Given the description of an element on the screen output the (x, y) to click on. 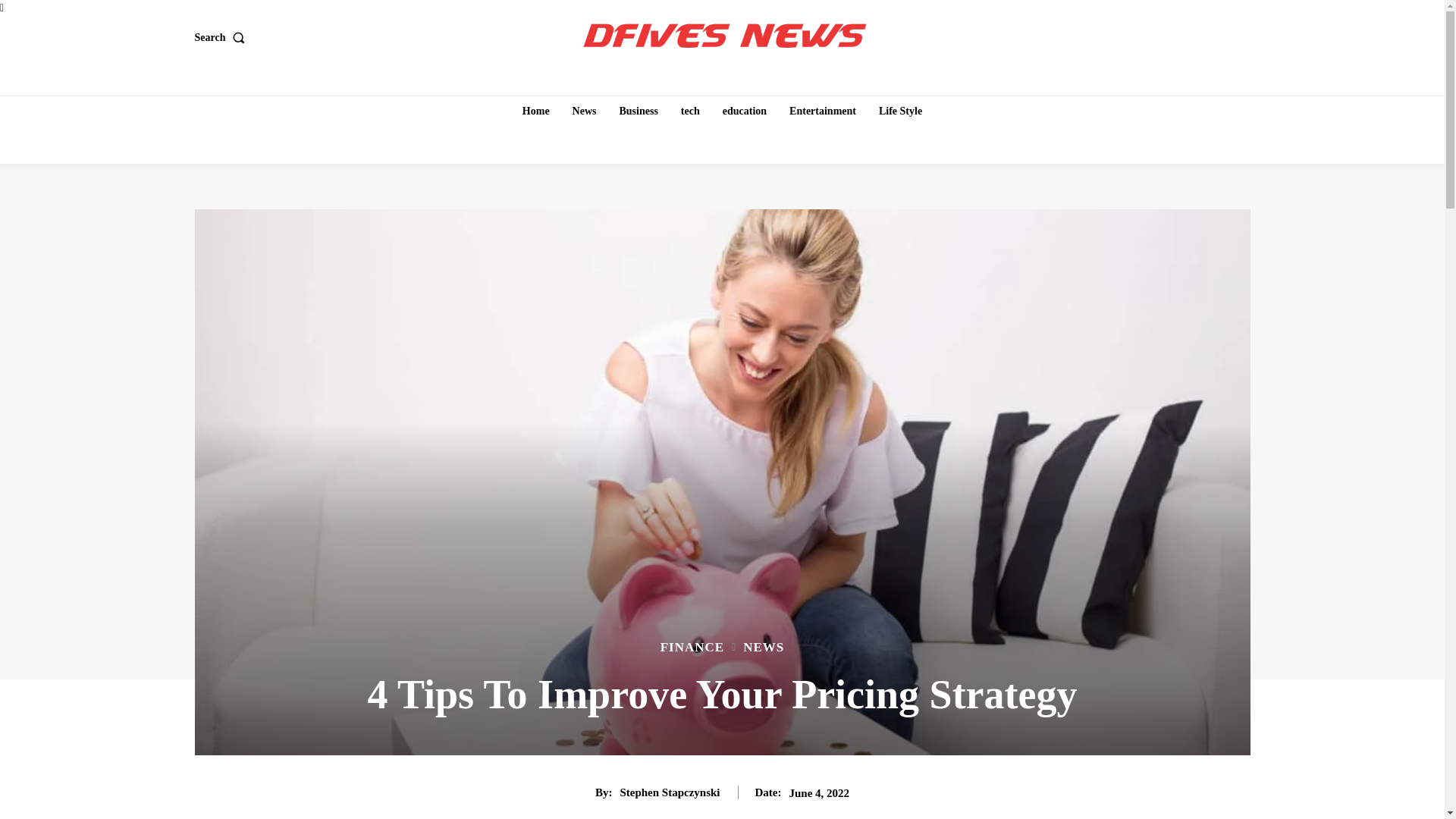
Life Style (900, 111)
NEWS (763, 646)
FINANCE (692, 646)
News (584, 111)
education (744, 111)
tech (689, 111)
Home (536, 111)
Business (638, 111)
Stephen Stapczynski (669, 792)
Search (221, 37)
Entertainment (822, 111)
